Given the description of an element on the screen output the (x, y) to click on. 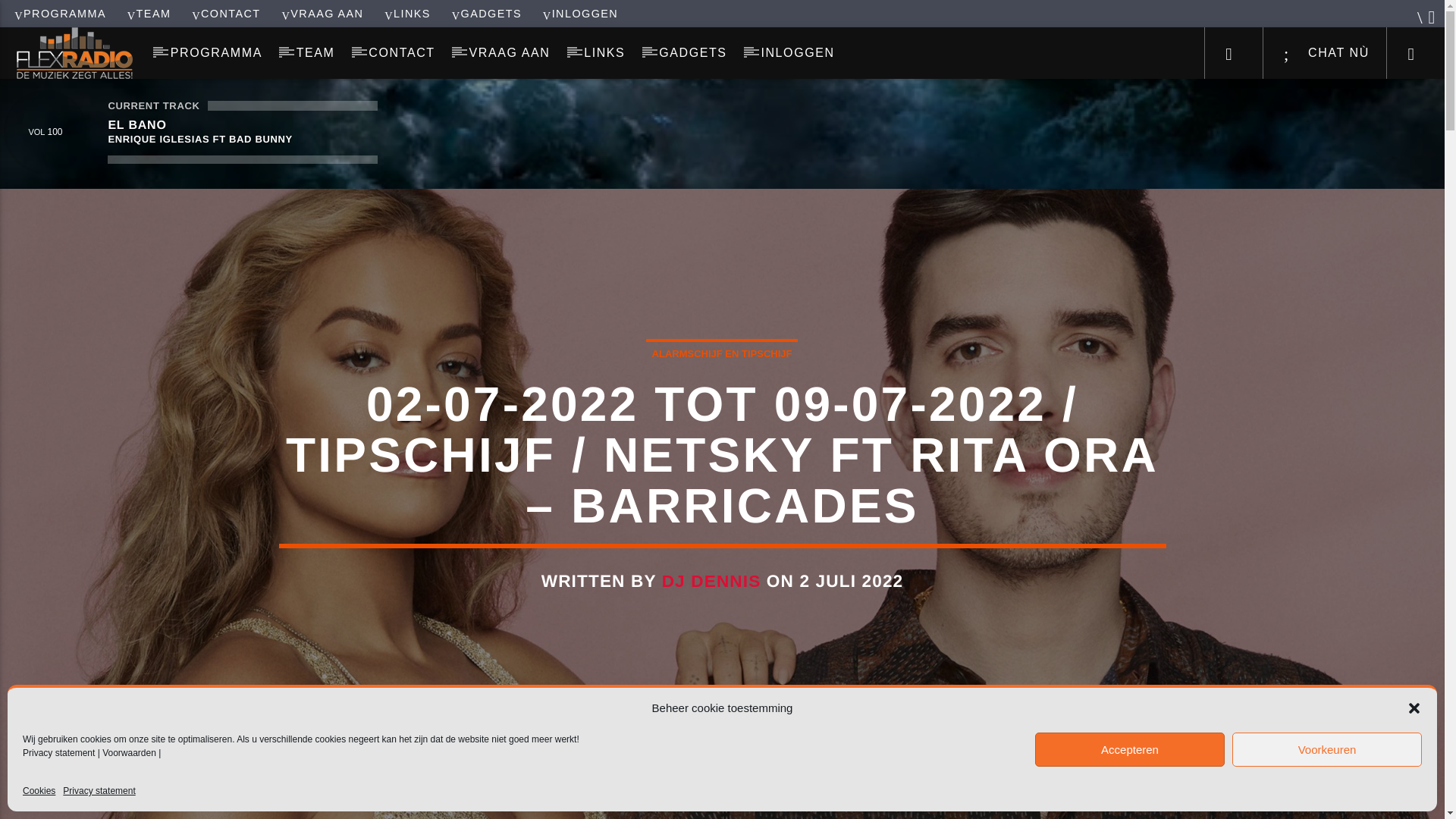
GADGETS (486, 13)
PROGRAMMA (60, 13)
PROGRAMMA (215, 52)
Cookies (39, 791)
Berichten van DJ Dennis (711, 580)
CONTACT (401, 52)
GADGETS (693, 52)
TEAM (315, 52)
Privacy statement (58, 752)
TEAM (148, 13)
LINKS (407, 13)
INLOGGEN (797, 52)
INLOGGEN (580, 13)
Accepteren (1129, 749)
Voorwaarden (128, 752)
